Given the description of an element on the screen output the (x, y) to click on. 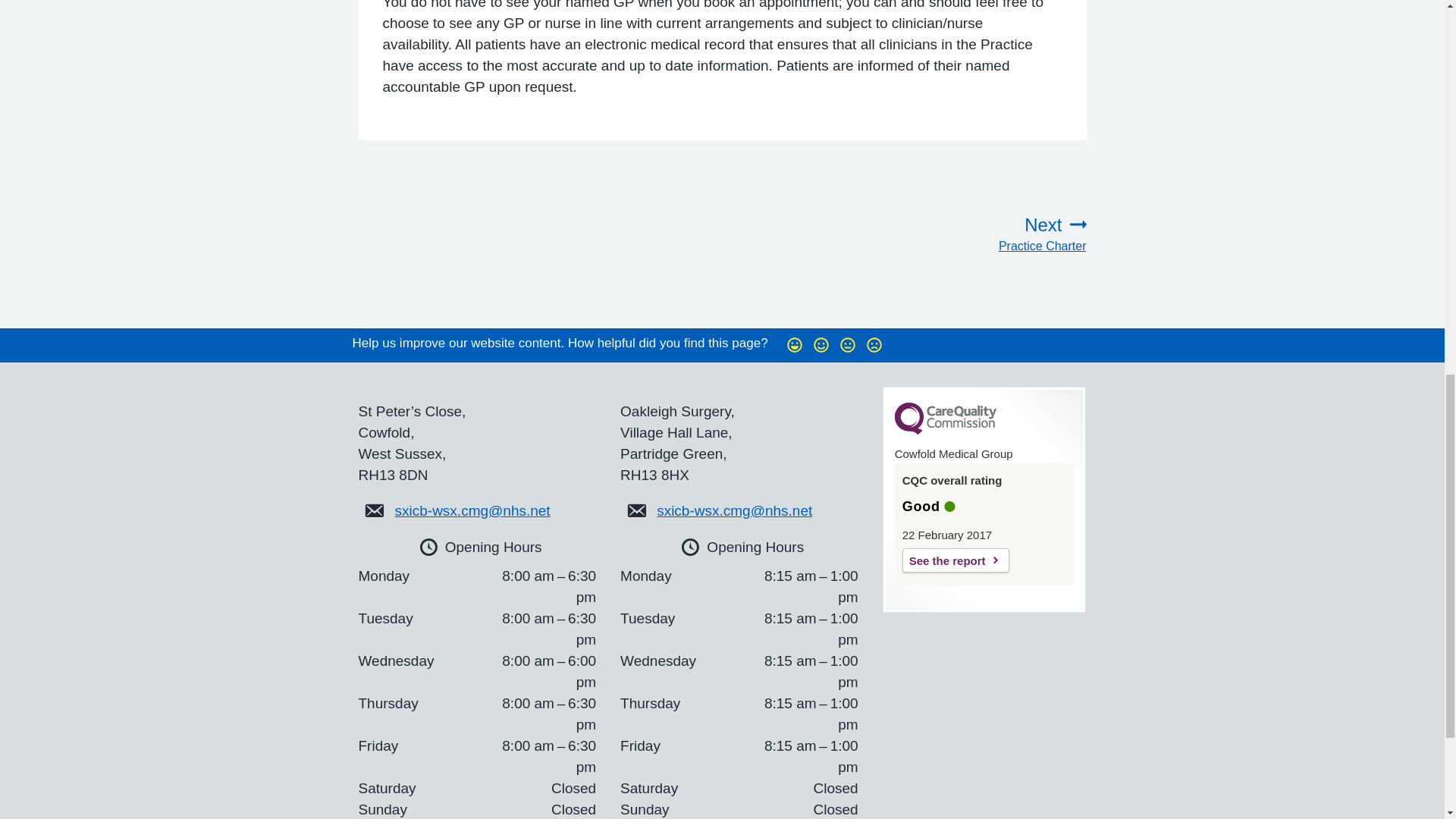
See the report (976, 233)
CQC Logo (955, 559)
